Given the description of an element on the screen output the (x, y) to click on. 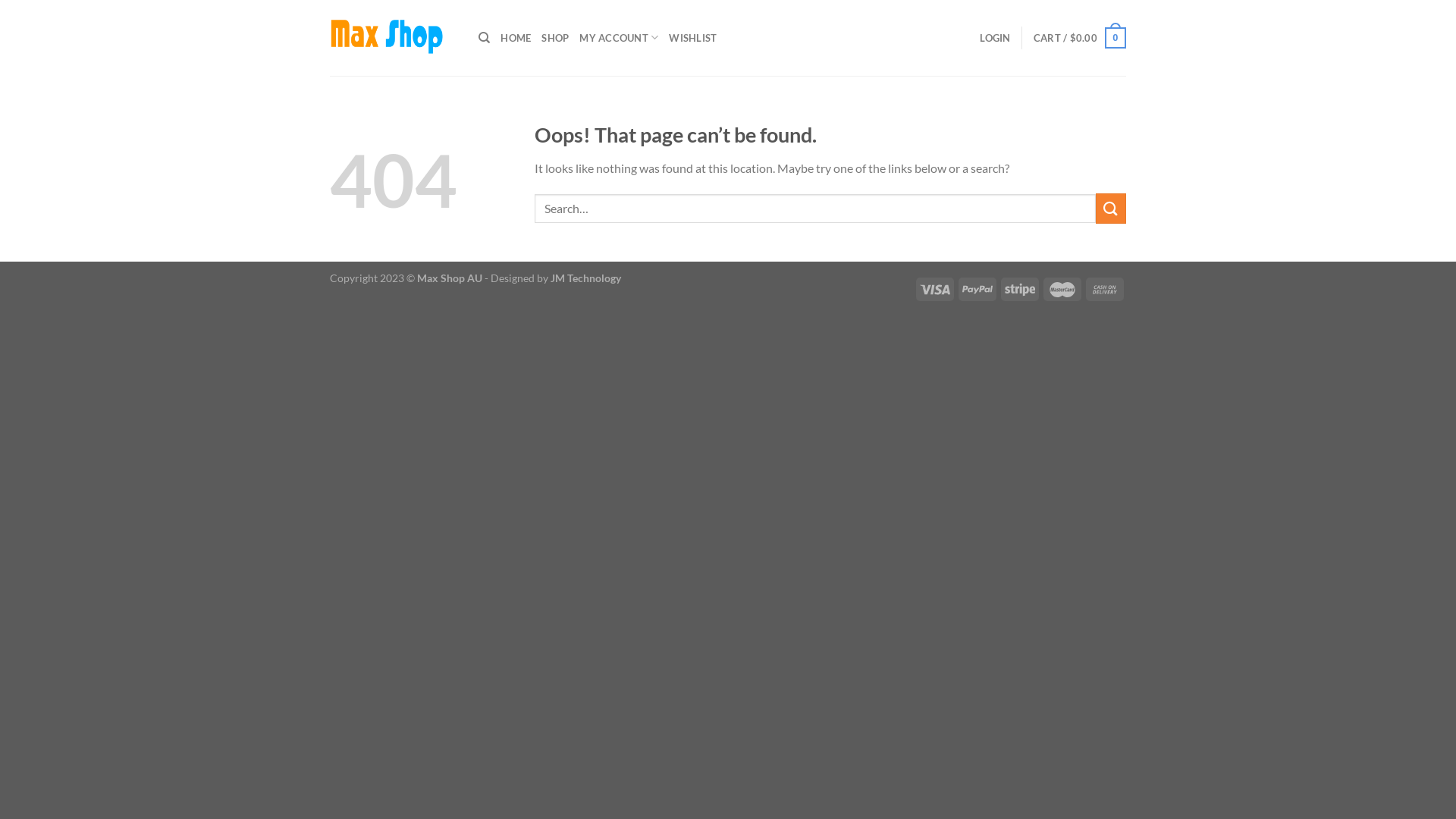
HOME Element type: text (515, 37)
SHOP Element type: text (554, 37)
MY ACCOUNT Element type: text (618, 37)
CART / $0.00
0 Element type: text (1079, 37)
Max Shop - Max Shop Element type: hover (392, 37)
LOGIN Element type: text (994, 37)
WISHLIST Element type: text (692, 37)
